Given the description of an element on the screen output the (x, y) to click on. 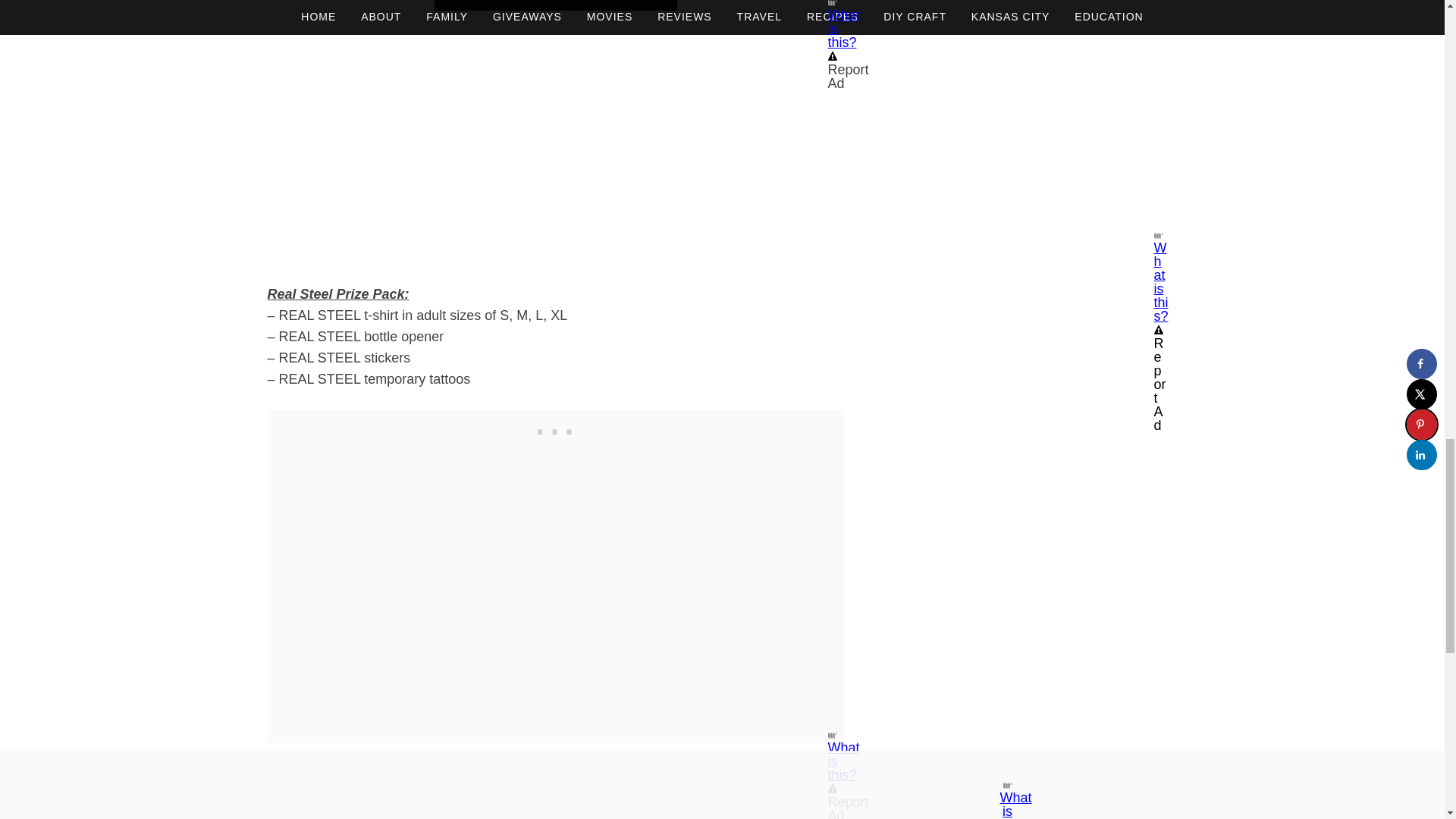
3rd party ad content (555, 428)
